Given the description of an element on the screen output the (x, y) to click on. 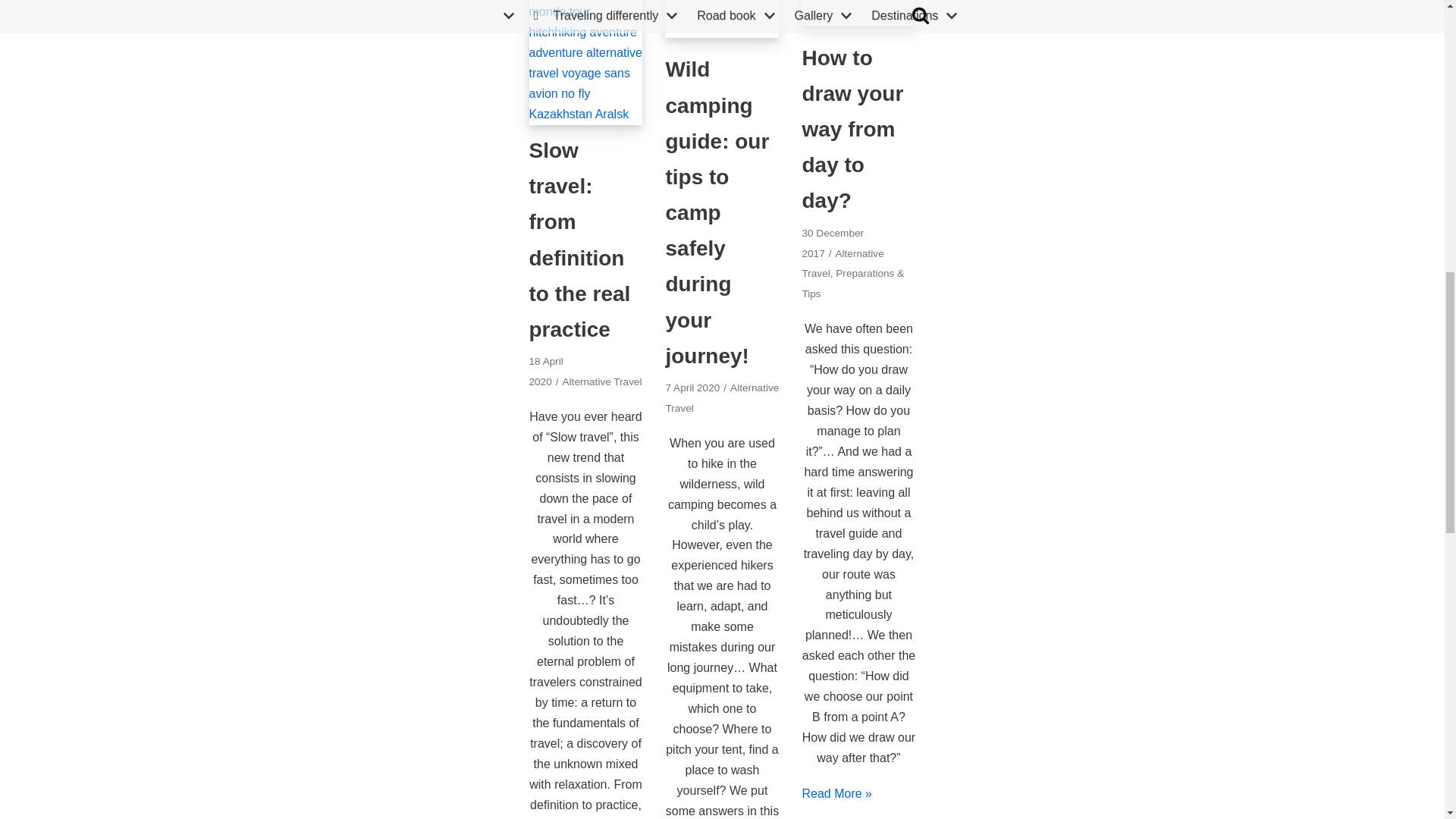
Slow travel: from definition to the real practice (586, 113)
How to draw your way from day to day? (858, 21)
